Given the description of an element on the screen output the (x, y) to click on. 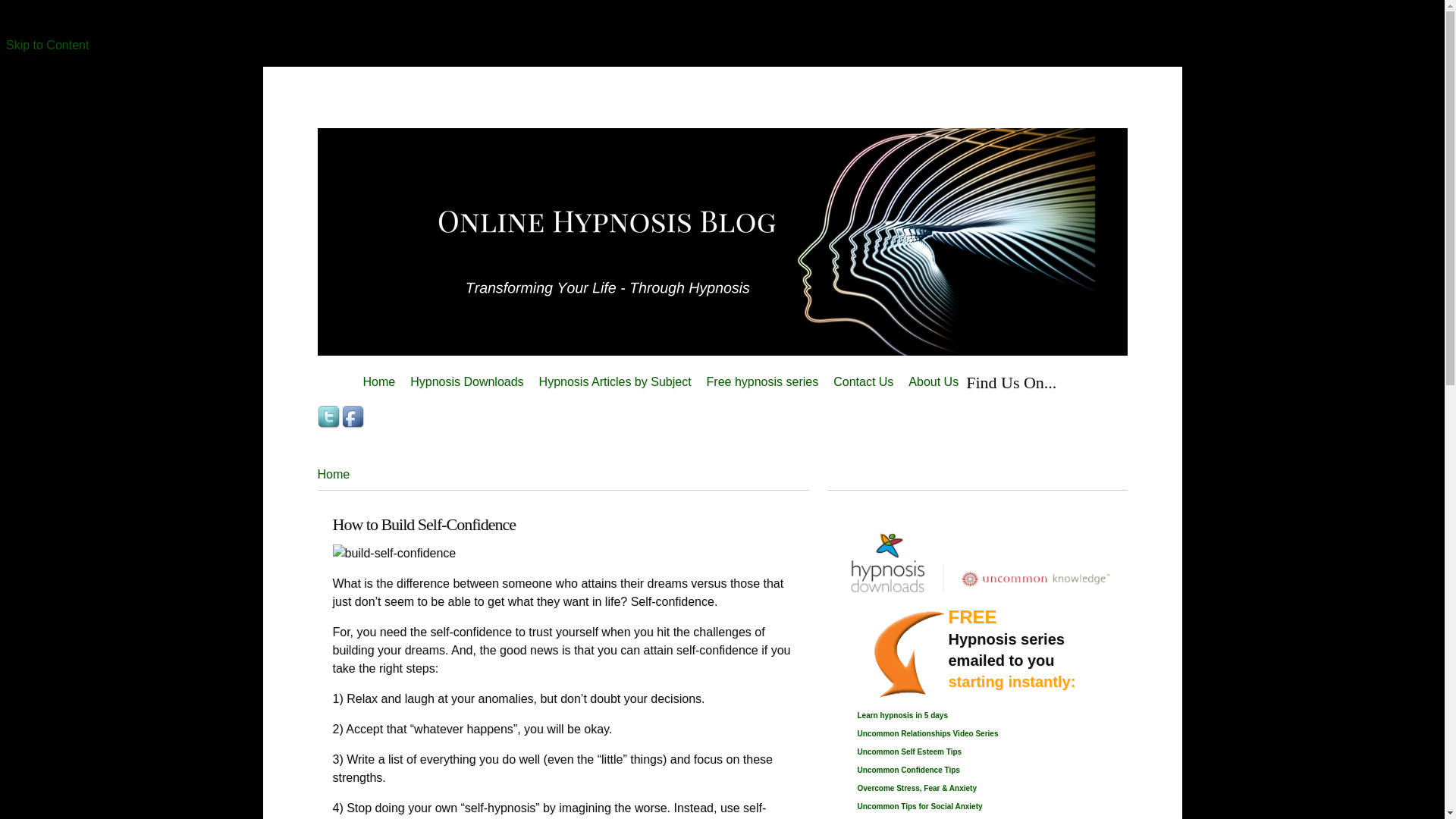
Hypnosis Articles by Subject (614, 382)
Skip to Content (46, 44)
About Us (933, 382)
Find Us on Twitter (328, 416)
About Us (933, 382)
Uncommon Confidence Tips (908, 769)
build-self-confidence (393, 553)
Uncommon Self Esteem Tips (908, 751)
Home (333, 472)
Uncommon Relationships Video Series (927, 733)
Learn hypnosis in 5 days (902, 715)
Uncommon Relationships Video Series (927, 733)
Home (379, 382)
Uncommon Tips for Social Anxiety (919, 806)
Uncommon Success Tips (919, 806)
